Given the description of an element on the screen output the (x, y) to click on. 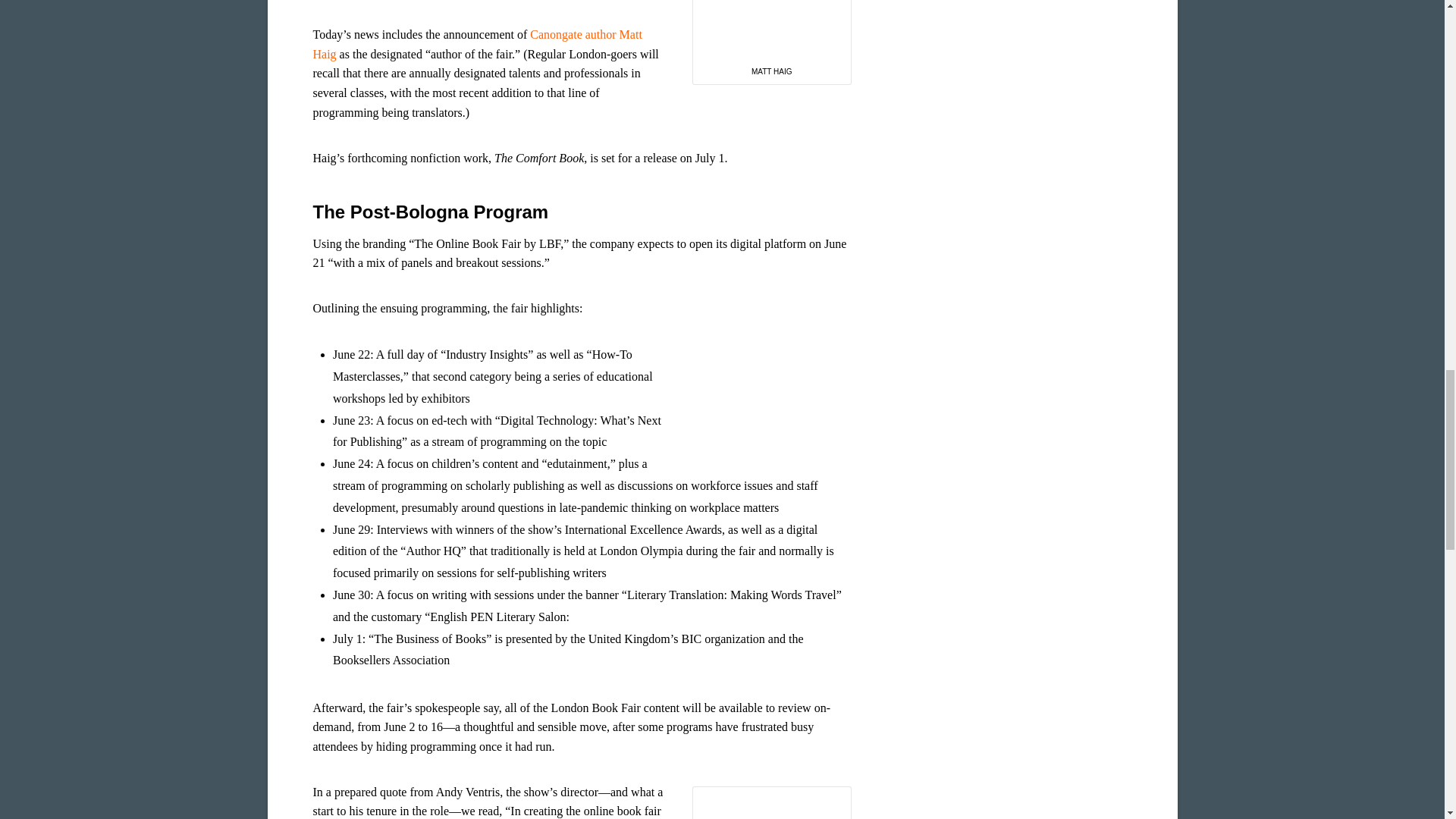
Canongate author Matt Haig (477, 43)
